Given the description of an element on the screen output the (x, y) to click on. 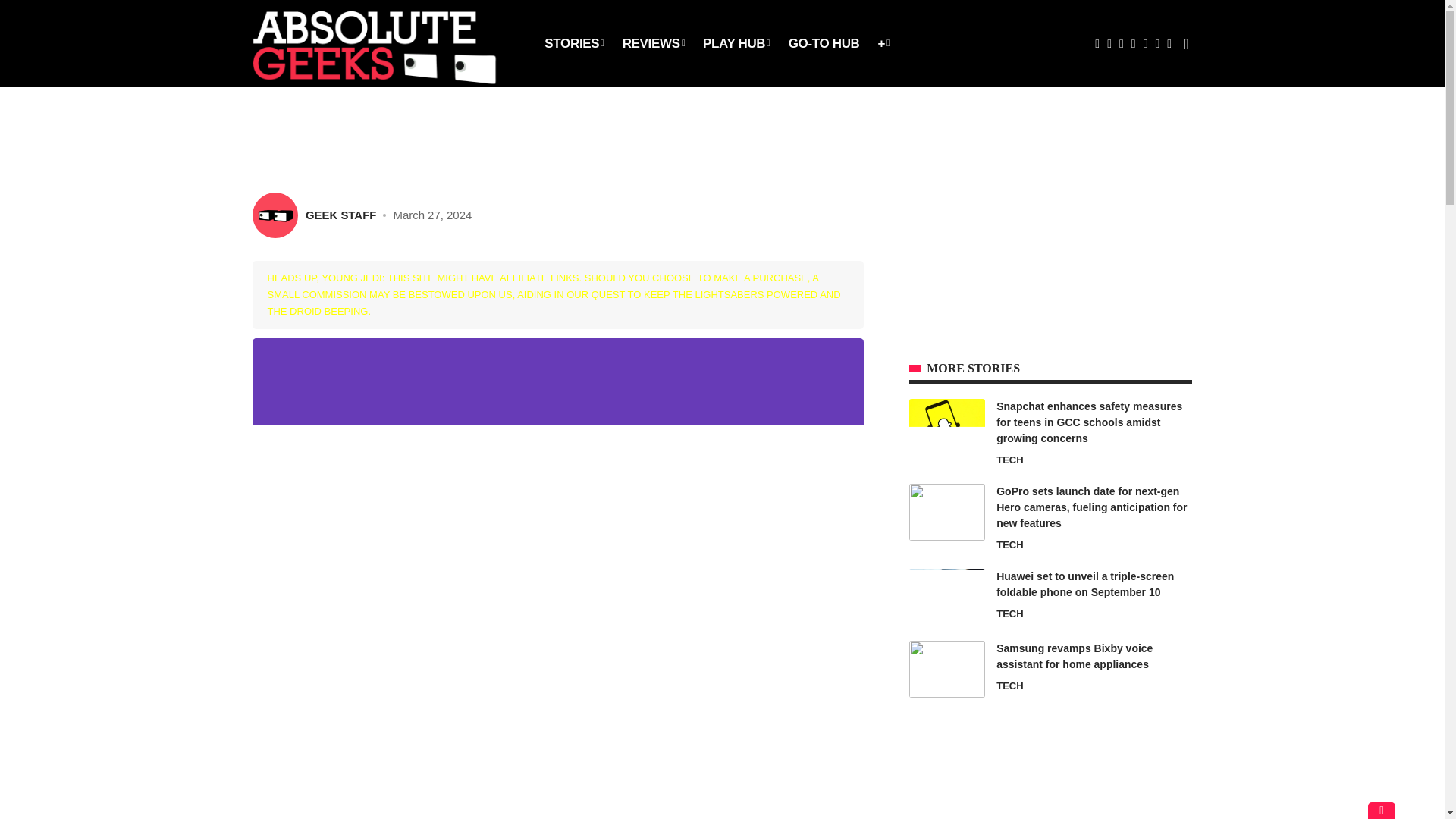
PLAY HUB (736, 43)
Samsung revamps Bixby voice assistant for home appliances (946, 668)
Absolute Geeks (385, 43)
REVIEWS (653, 43)
GO-TO HUB (823, 43)
